Given the description of an element on the screen output the (x, y) to click on. 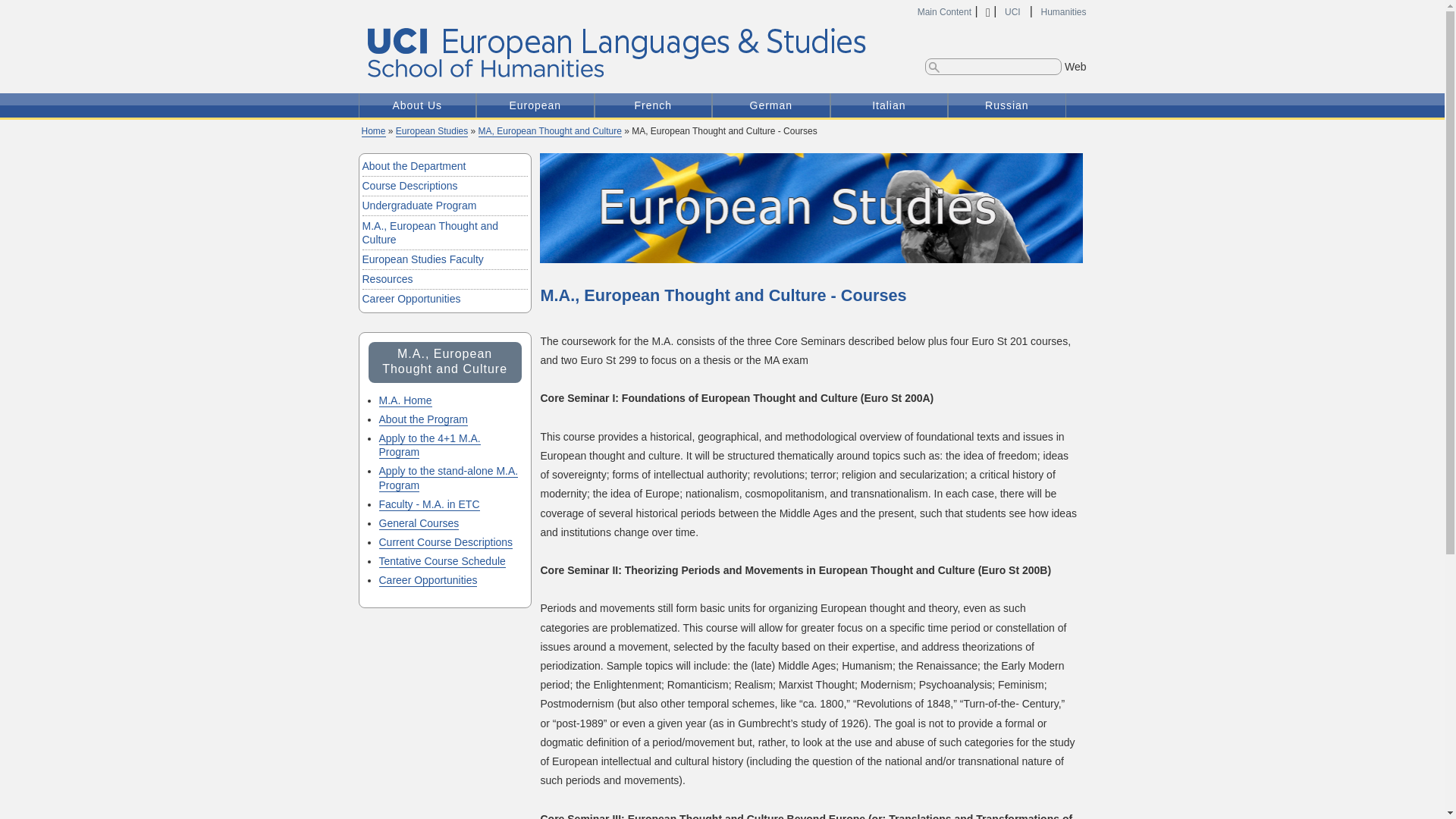
Humanities (1063, 11)
Learn about the M.A. Program in European Thought and Culture (405, 400)
Italian (889, 105)
Course Descriptions (444, 185)
Resources (444, 279)
European Studies Faculty (444, 259)
About the Department (444, 166)
Tentative Course Schedule (441, 561)
Careers to Consider (444, 298)
MA, European Thought and Culture (550, 131)
General Courses (419, 522)
Web (1075, 66)
M.A. Program - European Thought and Culture (429, 504)
Current Course Descriptions (445, 542)
Russian (1007, 105)
